Given the description of an element on the screen output the (x, y) to click on. 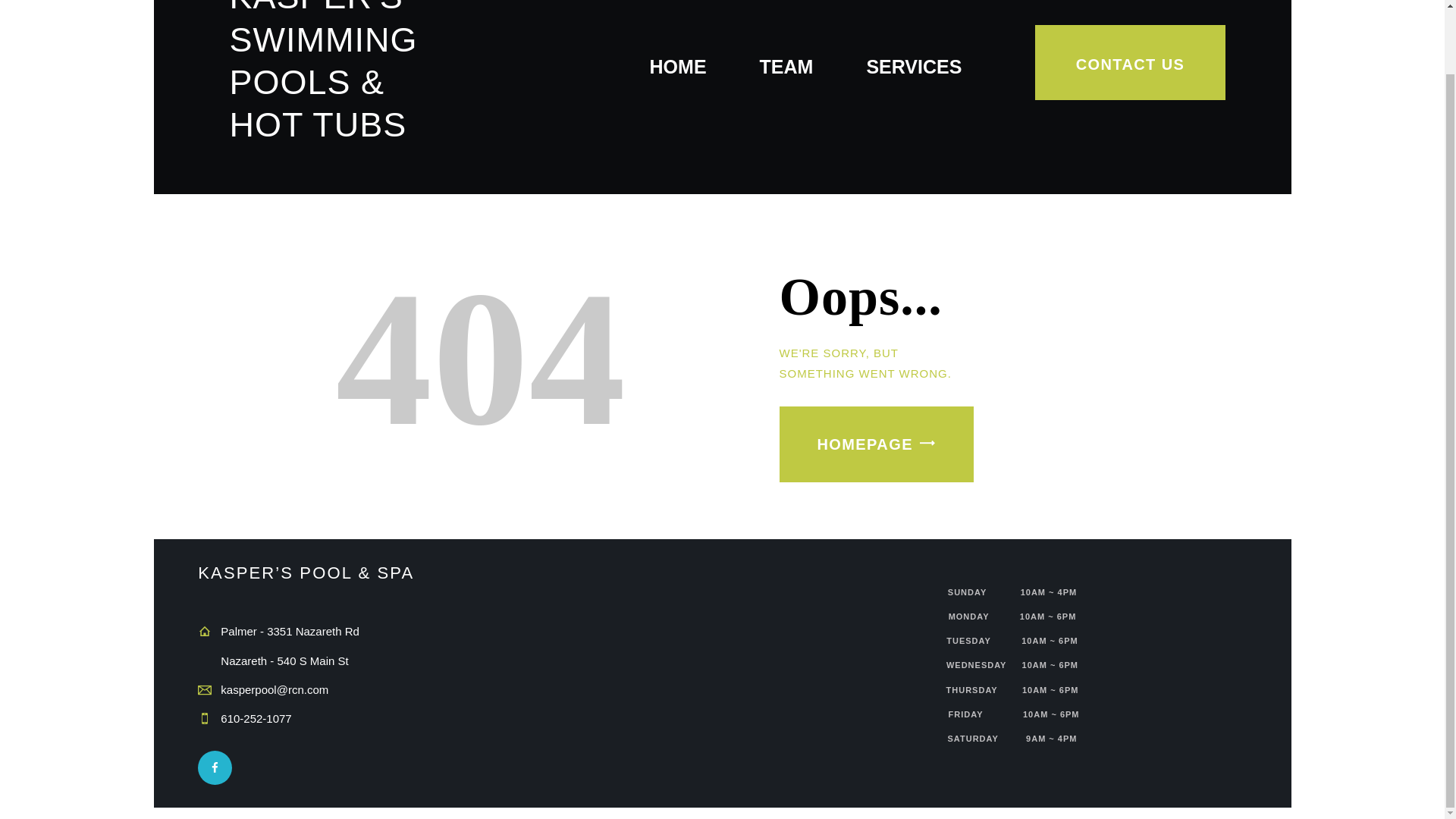
HOME (677, 68)
CONTACT US (1130, 62)
TEAM (786, 68)
SERVICES (913, 68)
HOMEPAGE (876, 444)
610-252-1077 (256, 717)
